Given the description of an element on the screen output the (x, y) to click on. 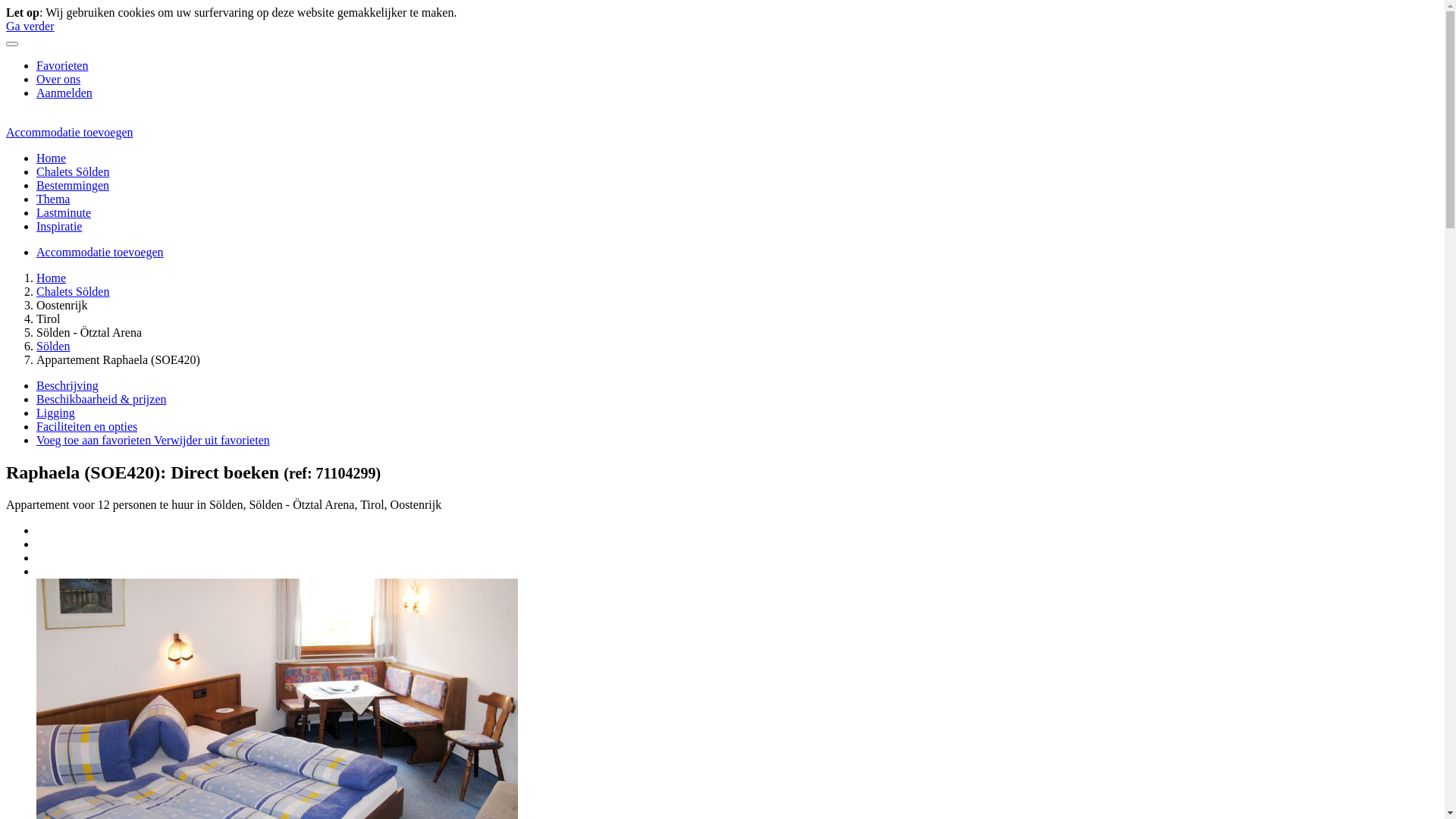
Thema Element type: text (52, 198)
Beschrijving Element type: text (67, 385)
Verwijder uit favorieten Element type: text (211, 439)
Aanmelden Element type: text (64, 92)
Favorieten Element type: text (61, 65)
Ligging Element type: text (55, 412)
Accommodatie toevoegen Element type: text (69, 131)
Home Element type: text (50, 157)
Home Element type: text (50, 277)
Ga verder Element type: text (30, 25)
Lastminute Element type: text (63, 212)
Over ons Element type: text (58, 78)
Bestemmingen Element type: text (72, 184)
Accommodatie toevoegen Element type: text (99, 251)
Inspiratie Element type: text (58, 225)
Voeg toe aan favorieten Element type: text (94, 439)
Beschikbaarheid & prijzen Element type: text (101, 398)
Faciliteiten en opties Element type: text (86, 426)
